Given the description of an element on the screen output the (x, y) to click on. 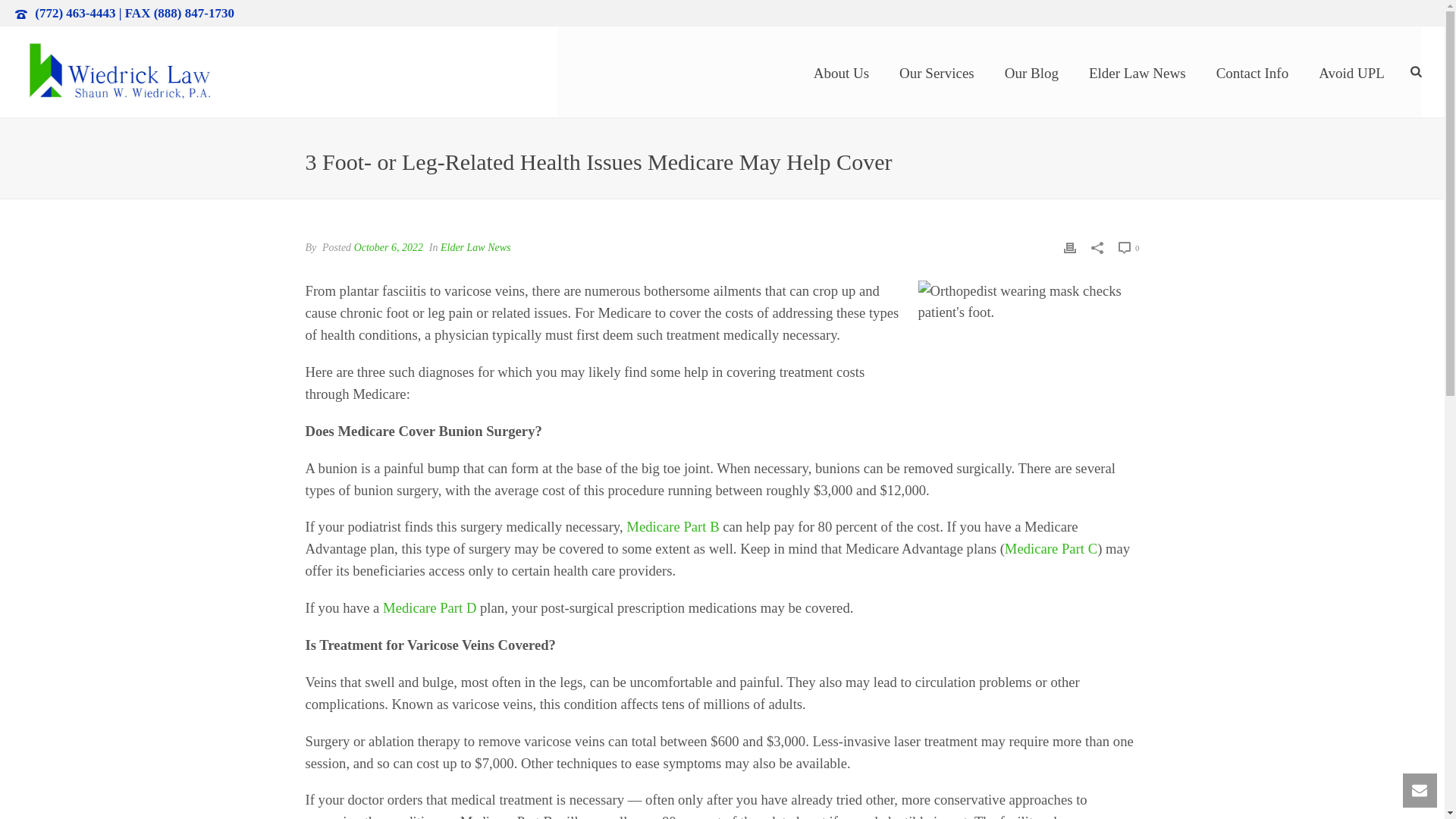
Avoid UPL (1351, 71)
Contact Info (1252, 71)
Our Services (936, 71)
Elder Law News (476, 247)
Medicare Part C (1050, 548)
Avoid UPL (1351, 71)
About Us (840, 71)
Medicare Part D (429, 607)
About Us (840, 71)
Our Blog (1032, 71)
0 (1128, 247)
Elder Law News (1137, 71)
Elder Law Firm (117, 71)
Our Blog (1032, 71)
October 6, 2022 (388, 247)
